Given the description of an element on the screen output the (x, y) to click on. 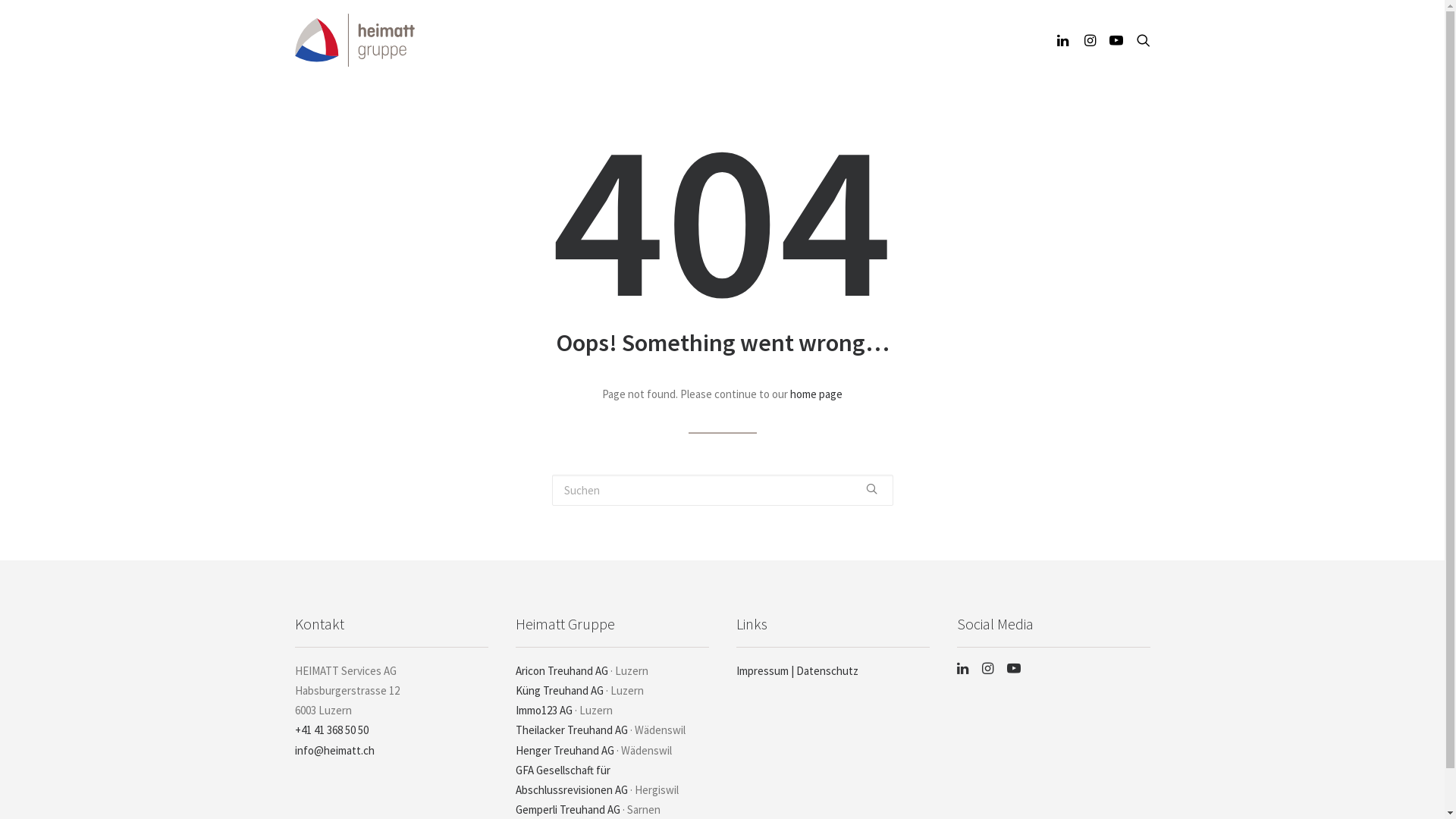
Aricon Treuhand AG Element type: text (561, 670)
Henger Treuhand AG Element type: text (564, 750)
info@heimatt.ch Element type: text (333, 750)
Suchen Element type: hover (722, 489)
Impressum | Datenschutz Element type: text (796, 670)
Immo123 AG Element type: text (543, 709)
home page Element type: text (816, 393)
Gemperli Treuhand AG Element type: text (567, 809)
Theilacker Treuhand AG Element type: text (571, 729)
+41 41 368 50 50 Element type: text (330, 729)
